Given the description of an element on the screen output the (x, y) to click on. 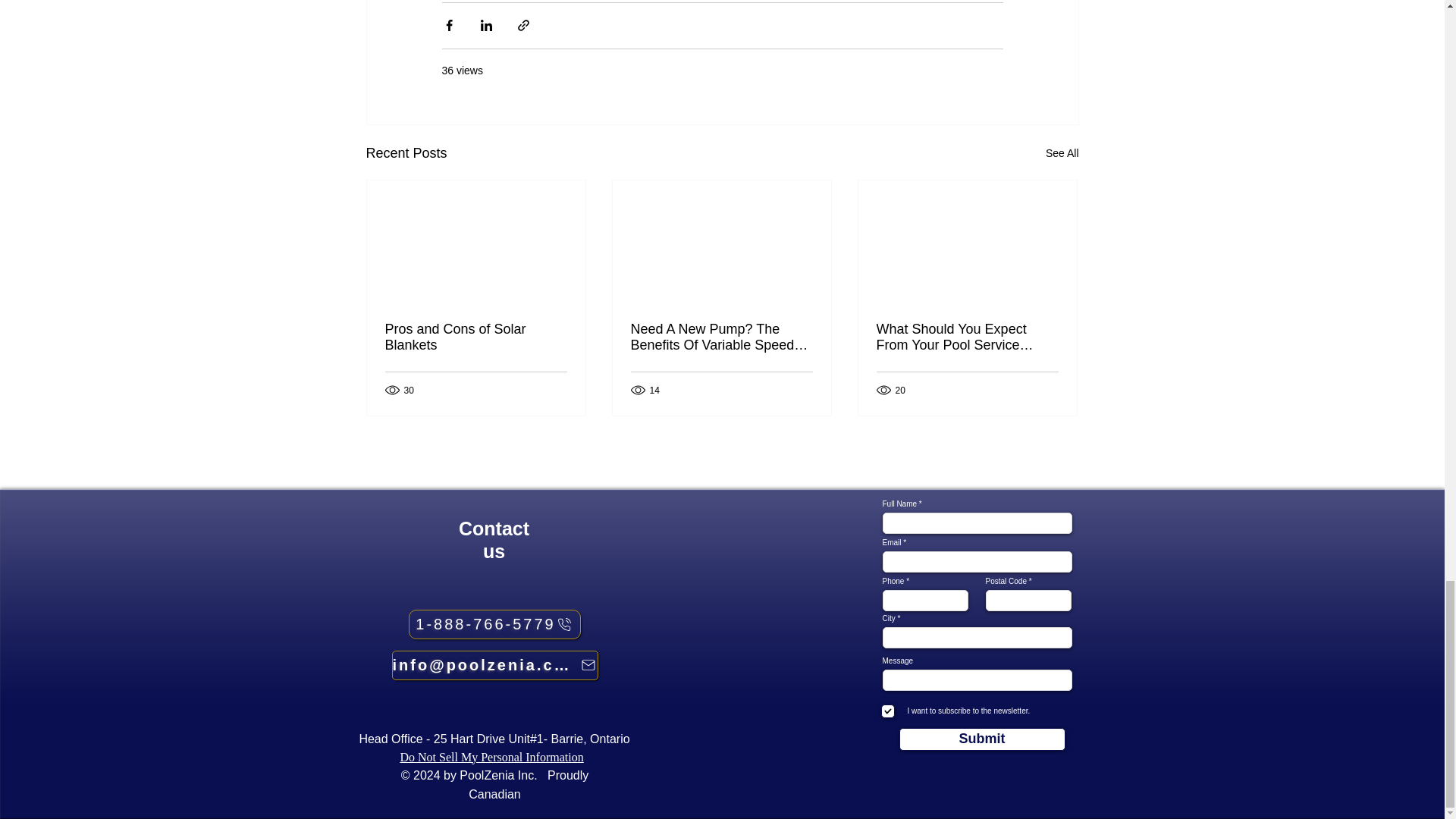
Pros and Cons of Solar Blankets (476, 336)
What Should You Expect From Your Pool Service Company? (967, 336)
See All (1061, 153)
